Given the description of an element on the screen output the (x, y) to click on. 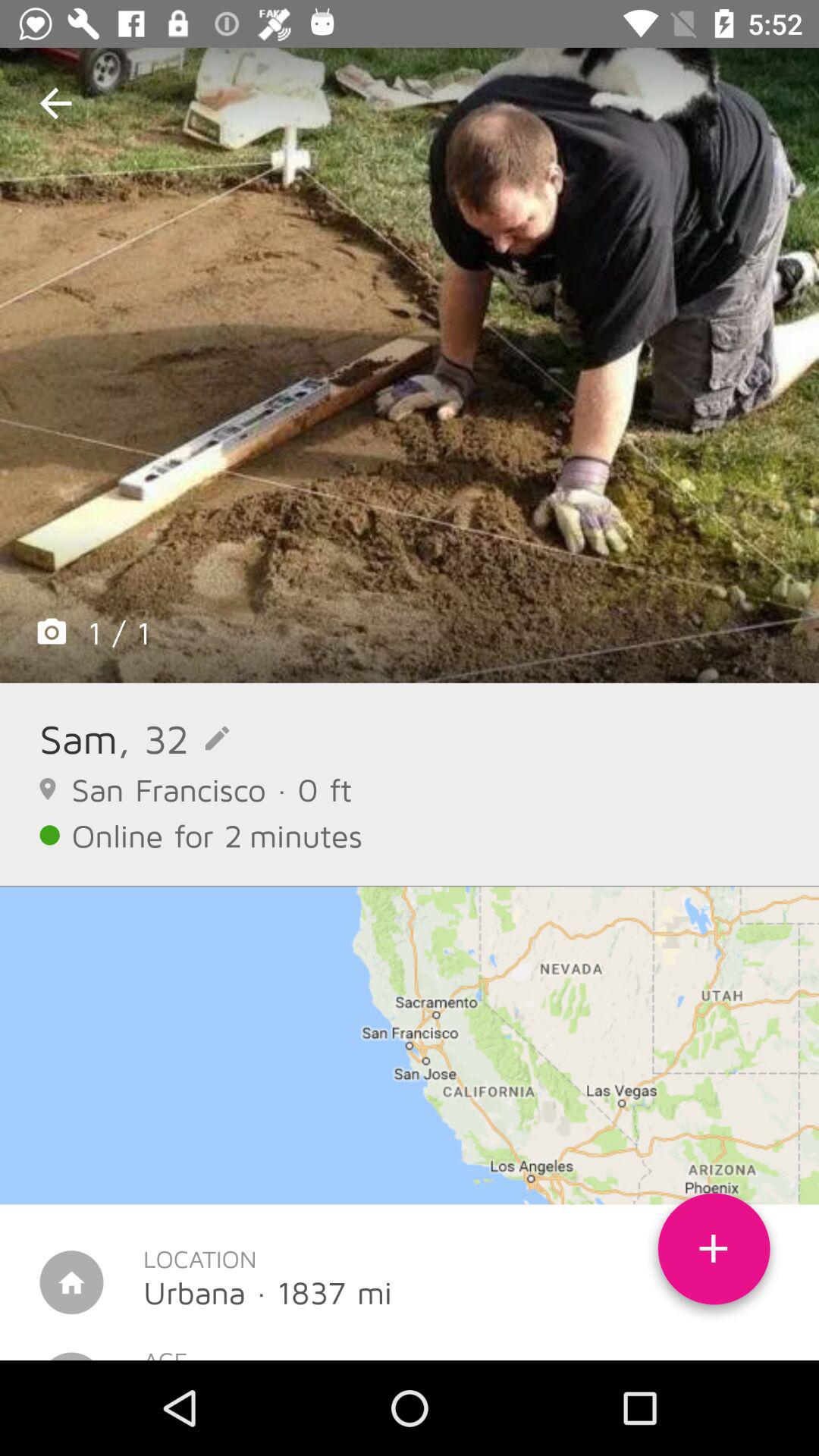
jump to , 32 (173, 738)
